Given the description of an element on the screen output the (x, y) to click on. 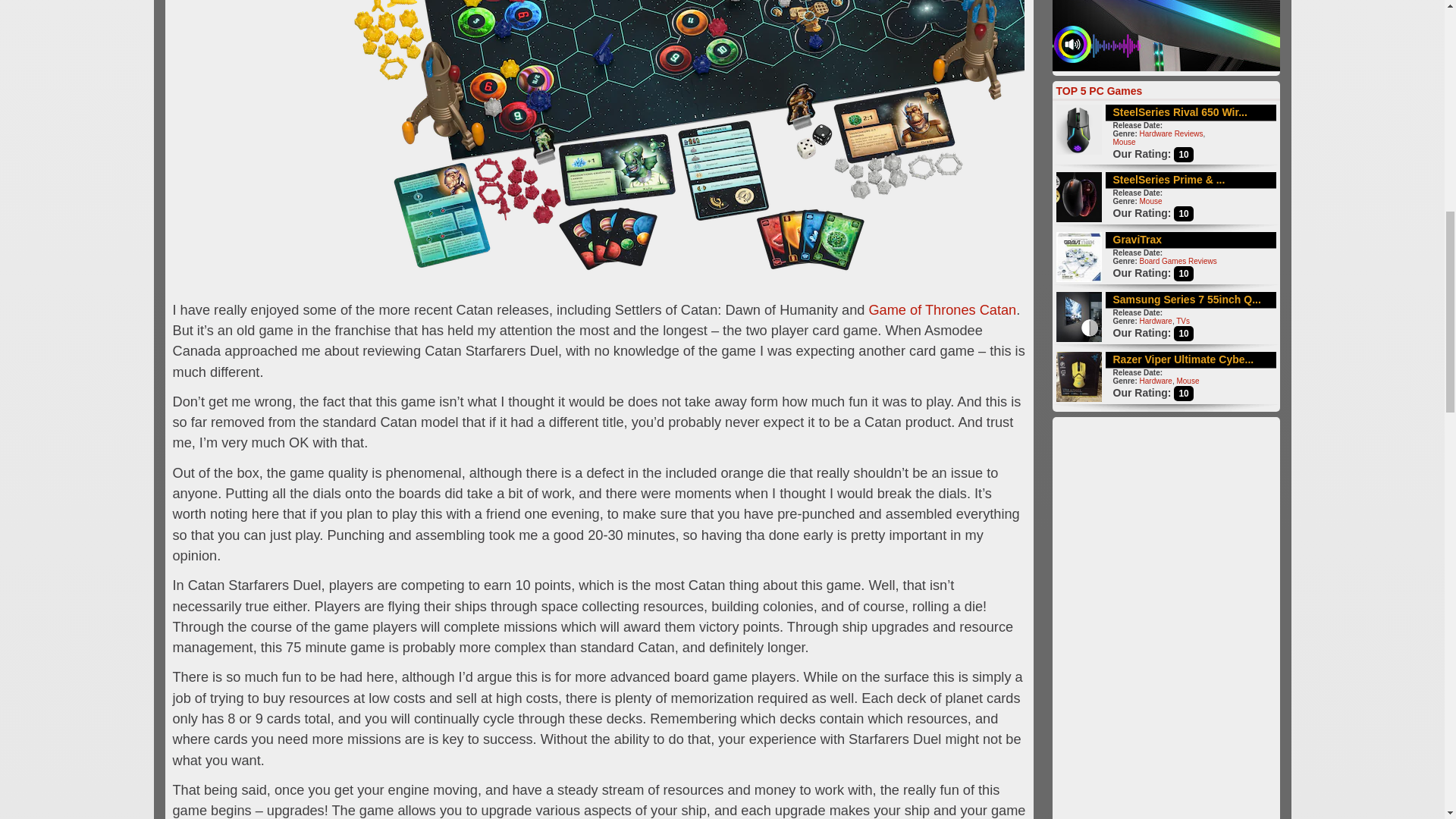
Razer Viper Ultimate Cyberpunk 2077 Edition (1183, 358)
SteelSeries Rival 650 Wireless Gaming Mouse Review (1180, 111)
Samsung Series 7 55inch Q7 UHD QLED TV Review (1186, 298)
GraviTrax Review (1137, 239)
